Given the description of an element on the screen output the (x, y) to click on. 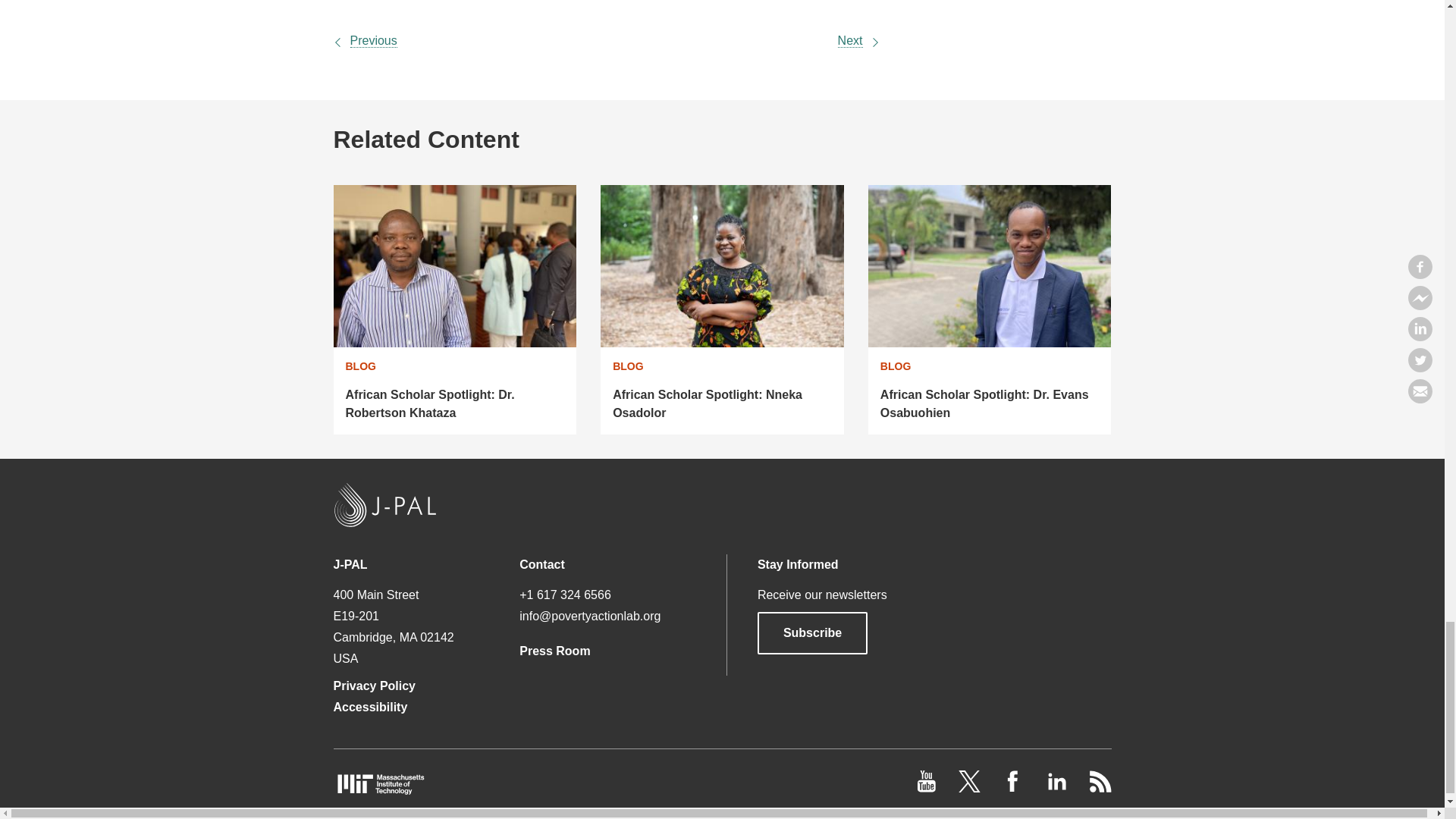
twitter (971, 788)
youtube (927, 788)
LinkedIn (1057, 788)
facebook (1015, 788)
rss feed (1099, 788)
